Given the description of an element on the screen output the (x, y) to click on. 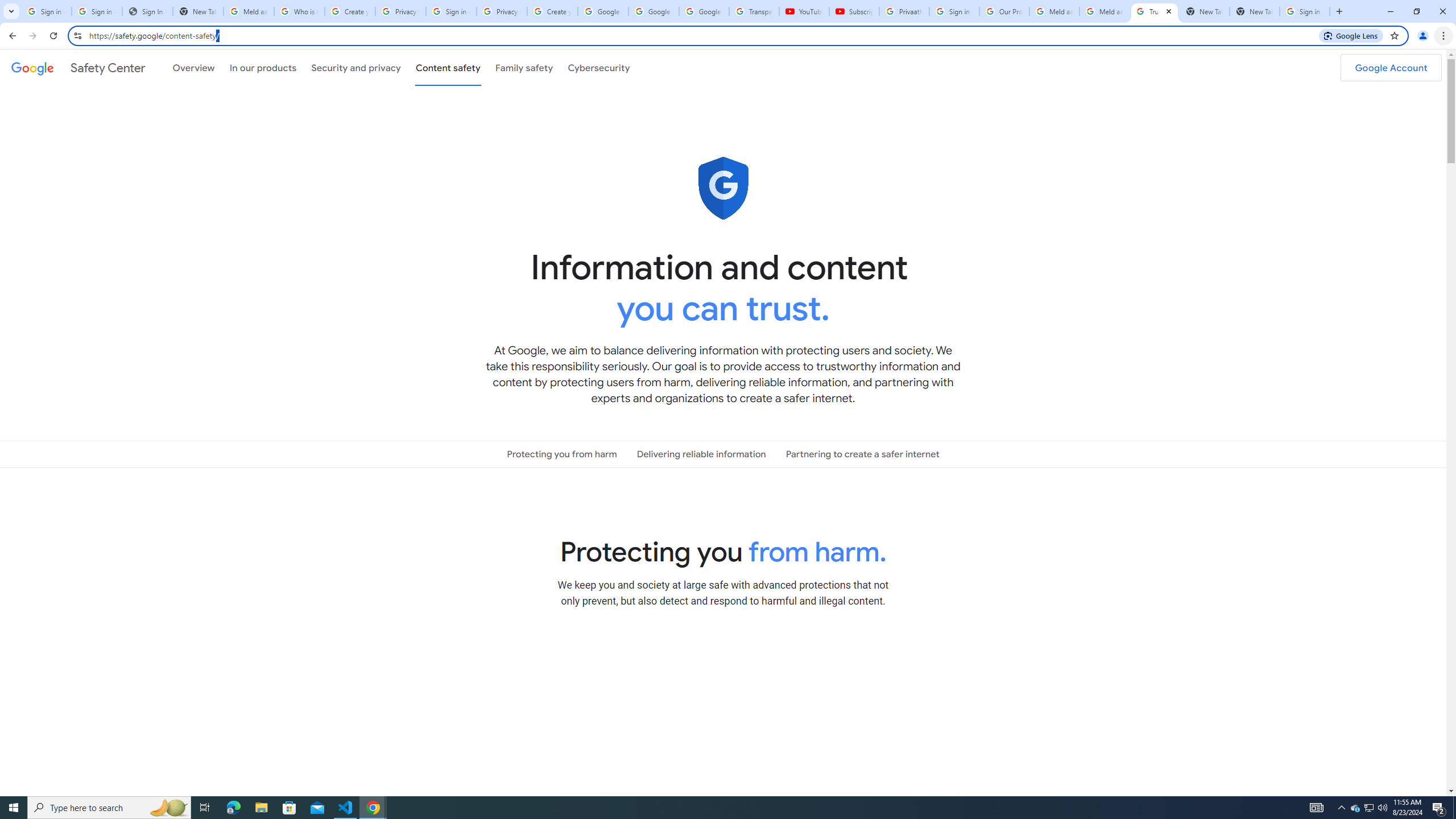
Cybersecurity (598, 67)
In our products (262, 67)
Reload (52, 35)
Minimize (1390, 11)
Close (1168, 11)
Google Account (703, 11)
Partnering to create a safer internet (862, 454)
Google Account (1390, 67)
Overview (193, 67)
Sign in - Google Accounts (954, 11)
Bookmark this tab (1393, 35)
